Given the description of an element on the screen output the (x, y) to click on. 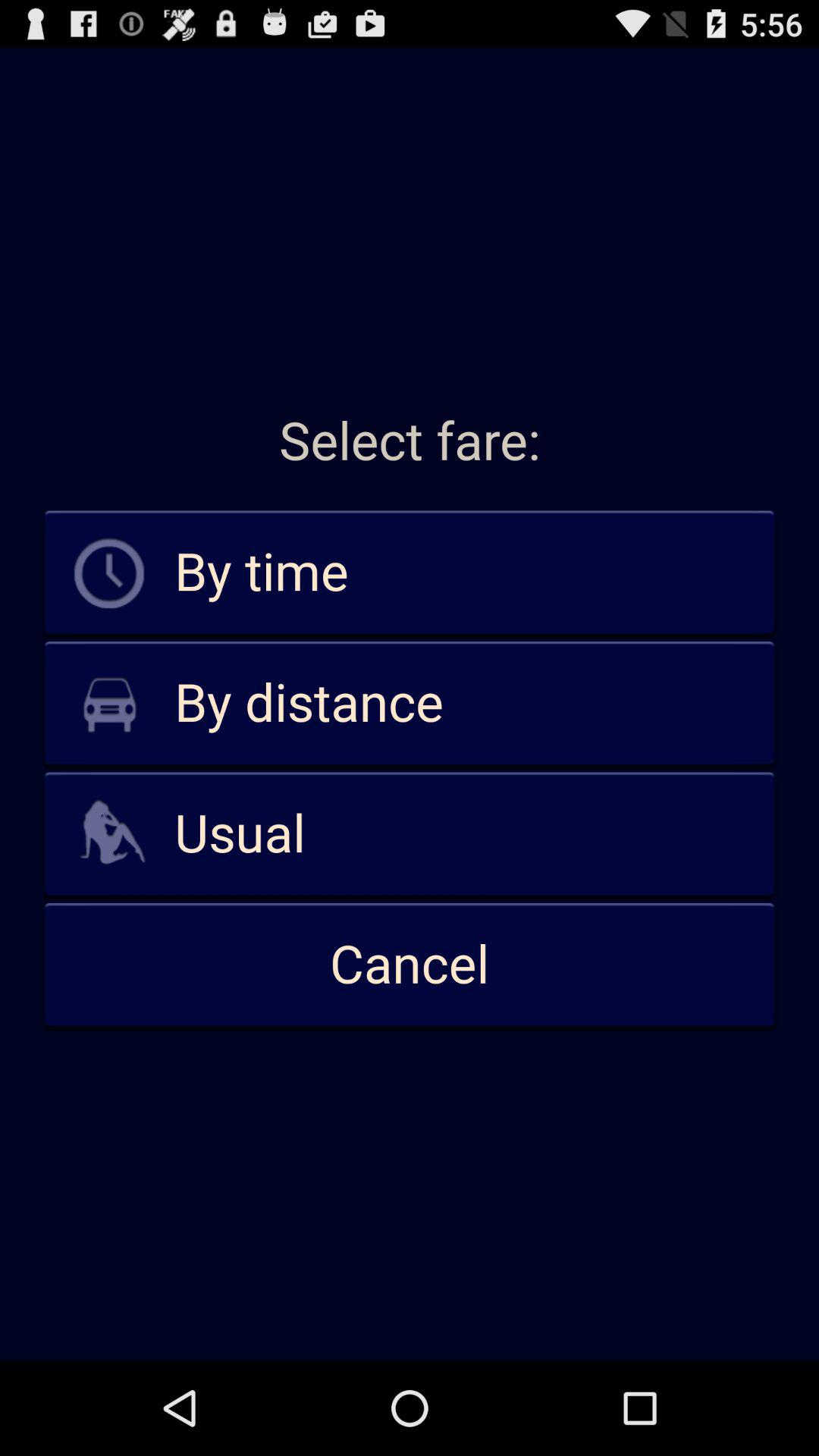
scroll to cancel item (409, 965)
